Given the description of an element on the screen output the (x, y) to click on. 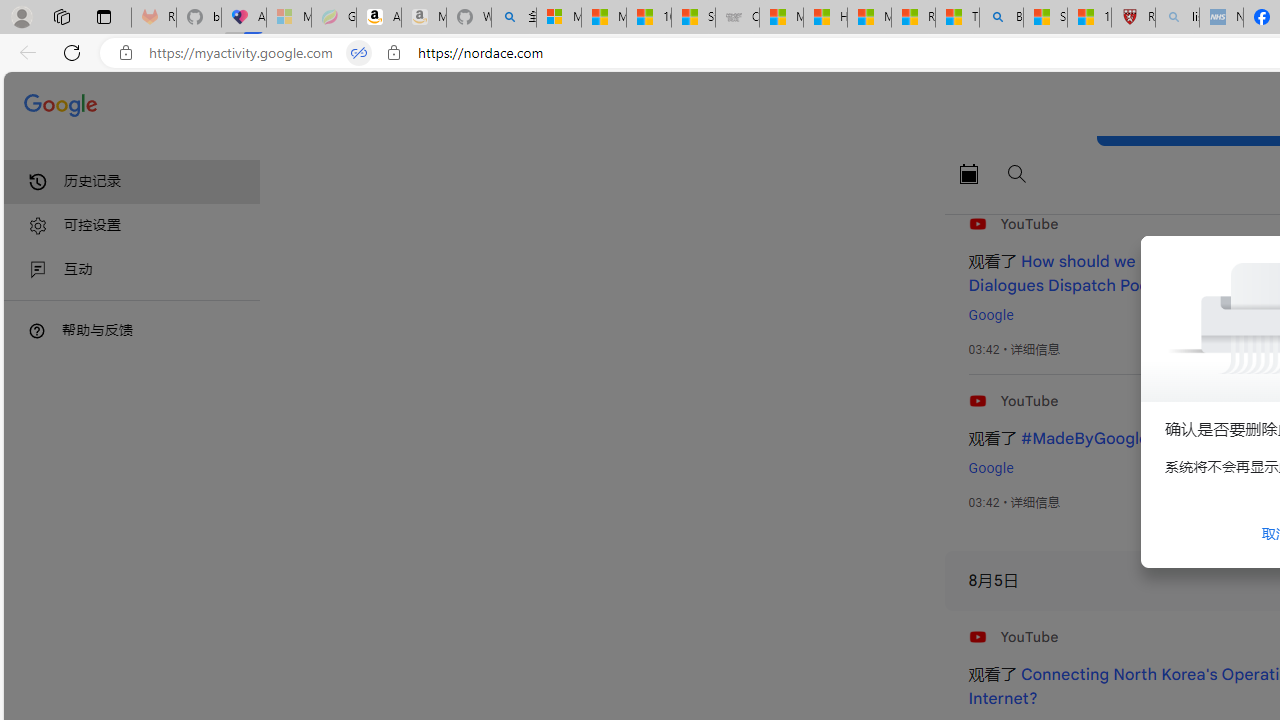
Class: i2GIId (38, 269)
Class: DTiKkd NMm5M (37, 330)
